Given the description of an element on the screen output the (x, y) to click on. 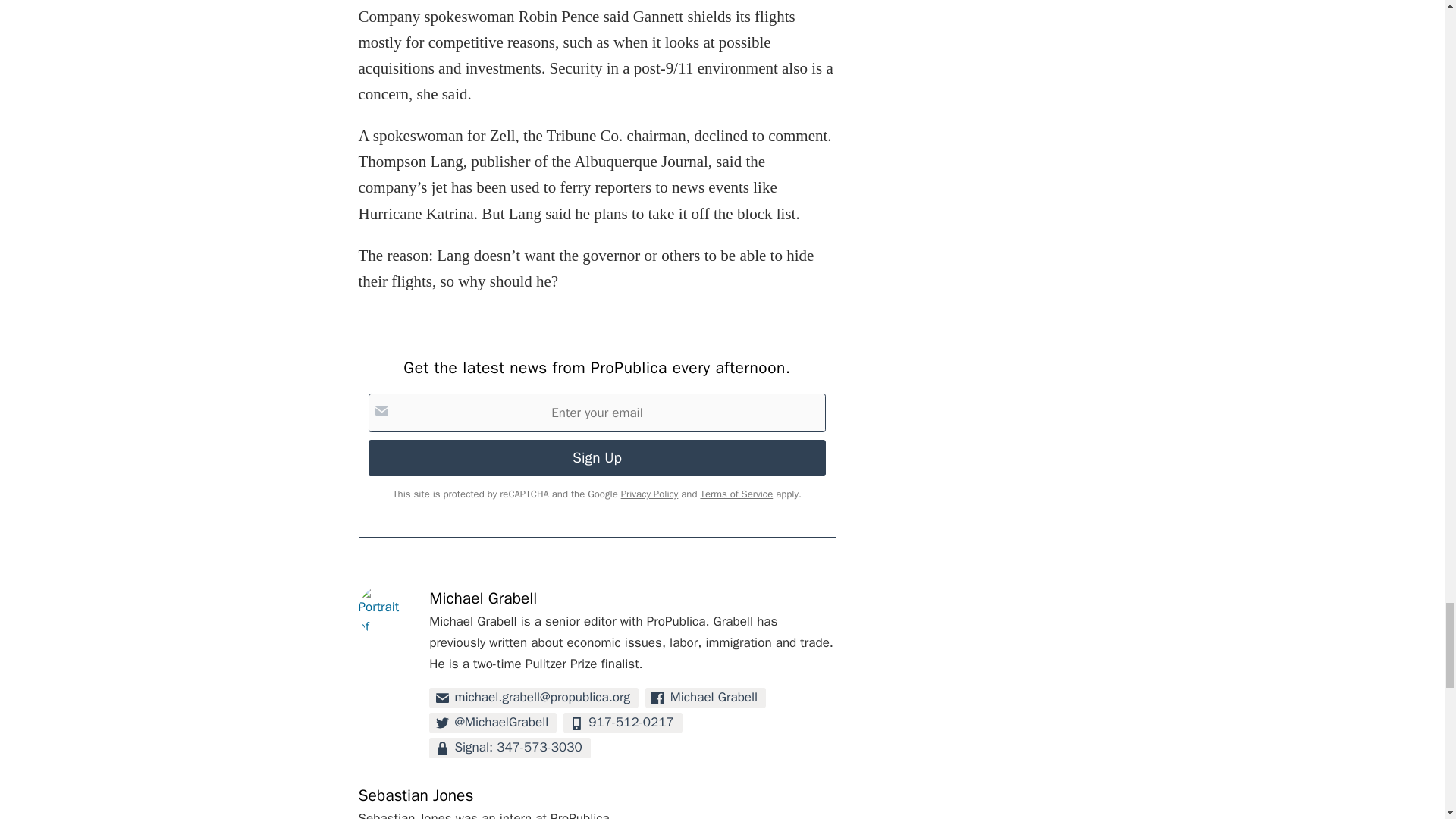
Twitter (492, 722)
Sign Up (596, 457)
Phone (622, 722)
Facebook (706, 697)
Email (534, 697)
